Given the description of an element on the screen output the (x, y) to click on. 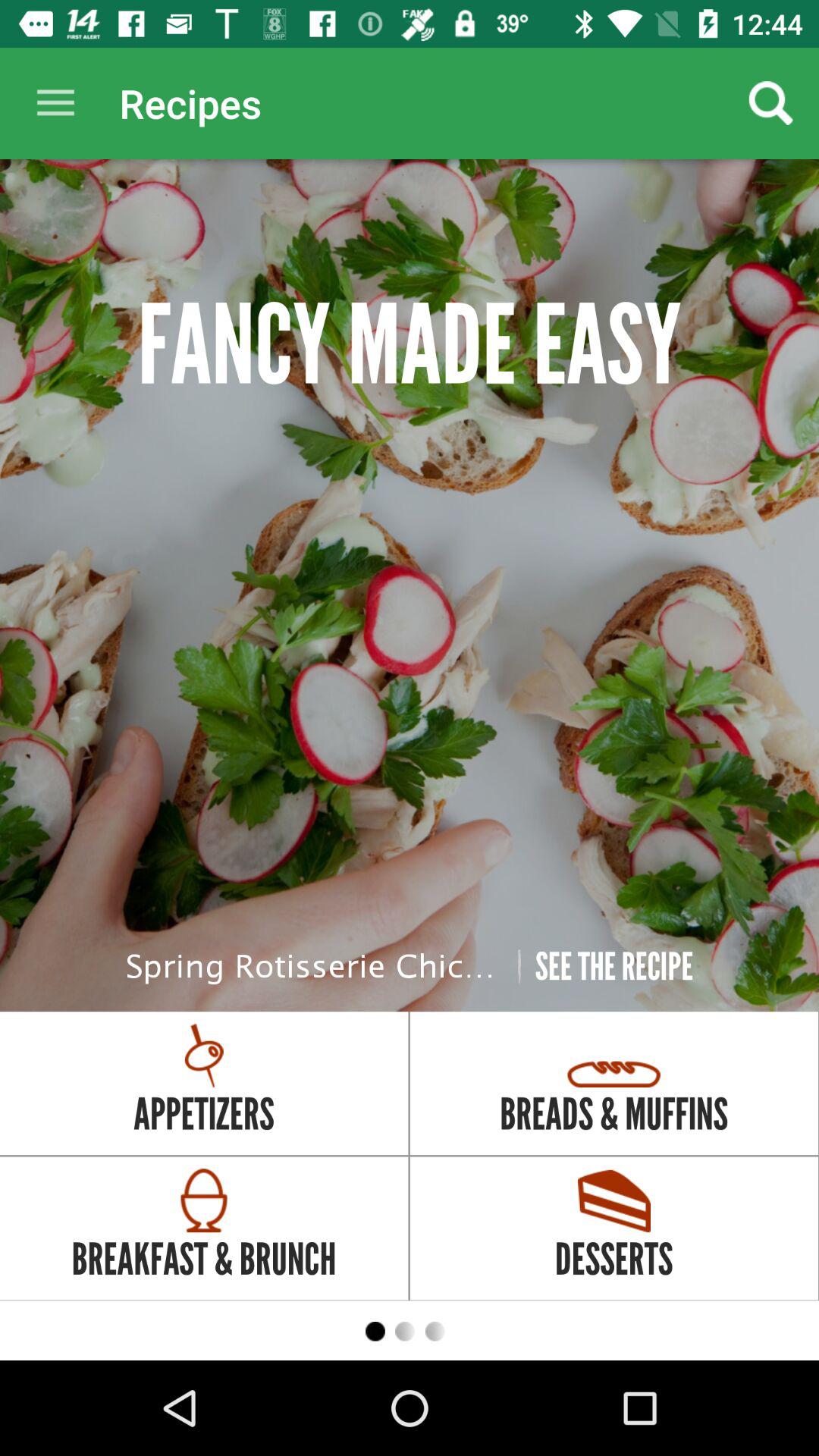
choose the item to the right of the recipes app (771, 103)
